Given the description of an element on the screen output the (x, y) to click on. 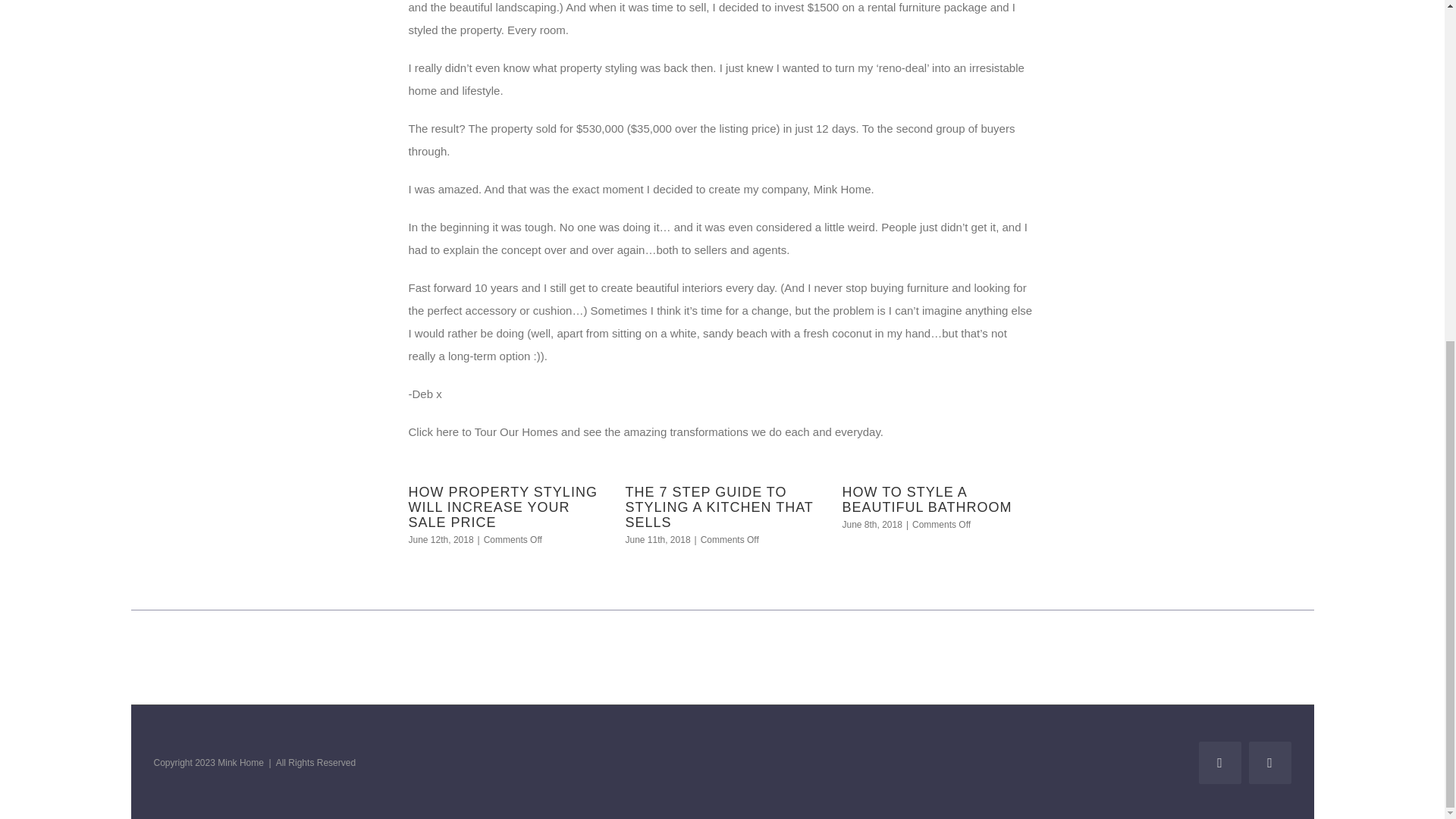
HOW PROPERTY STYLING WILL INCREASE YOUR SALE PRICE (501, 506)
Facebook (1219, 762)
Facebook (1219, 762)
HOW TO STYLE A BEAUTIFUL BATHROOM (926, 499)
Instagram (1268, 762)
THE 7 STEP GUIDE TO STYLING A KITCHEN THAT SELLS (718, 506)
Instagram (1268, 762)
